Given the description of an element on the screen output the (x, y) to click on. 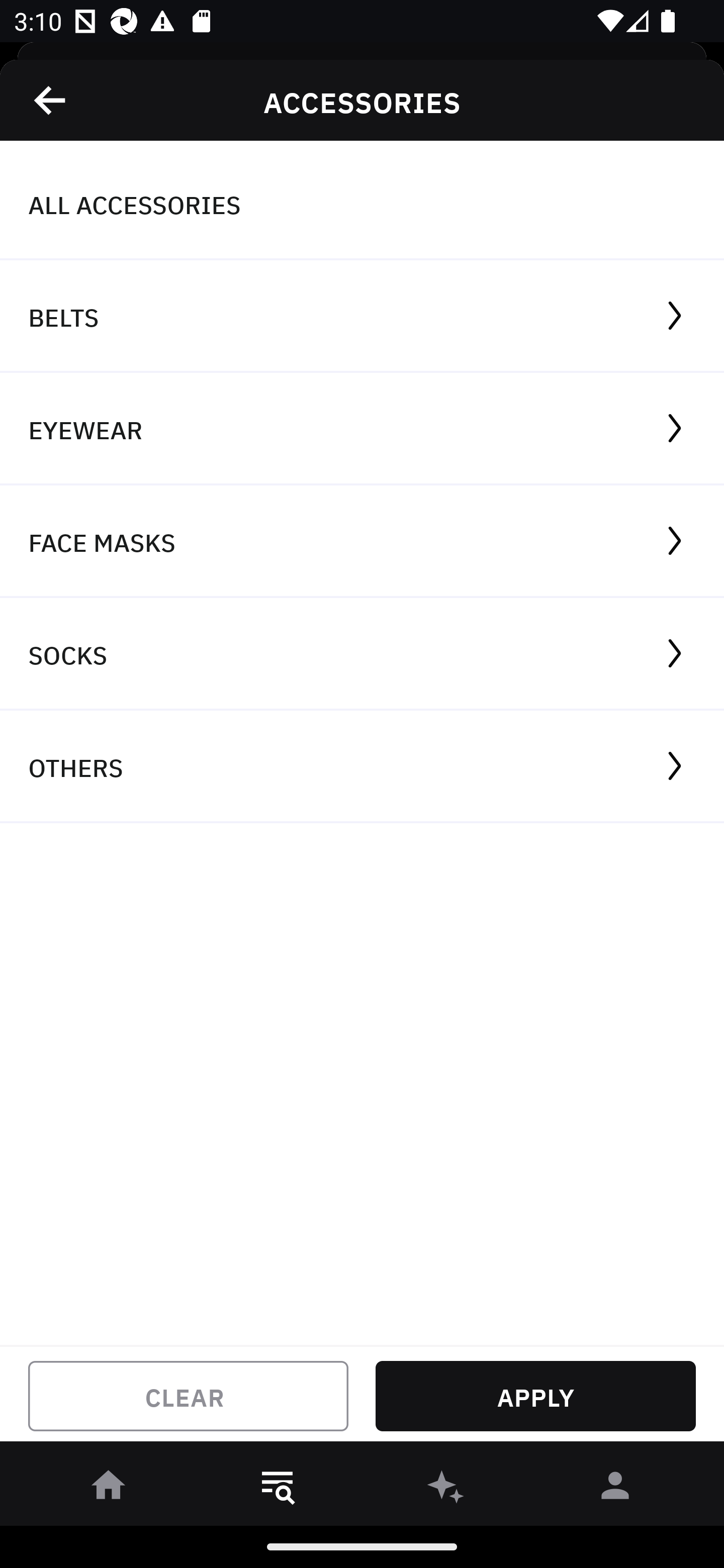
 (50, 100)
ALL ACCESSORIES (362, 203)
BELTS (362, 316)
EYEWEAR (362, 429)
FACE MASKS (362, 541)
SOCKS (362, 653)
OTHERS (362, 766)
CLEAR  (188, 1396)
APPLY (535, 1396)
󰋜 (108, 1488)
󱎸 (277, 1488)
󰫢 (446, 1488)
󰀄 (615, 1488)
